Given the description of an element on the screen output the (x, y) to click on. 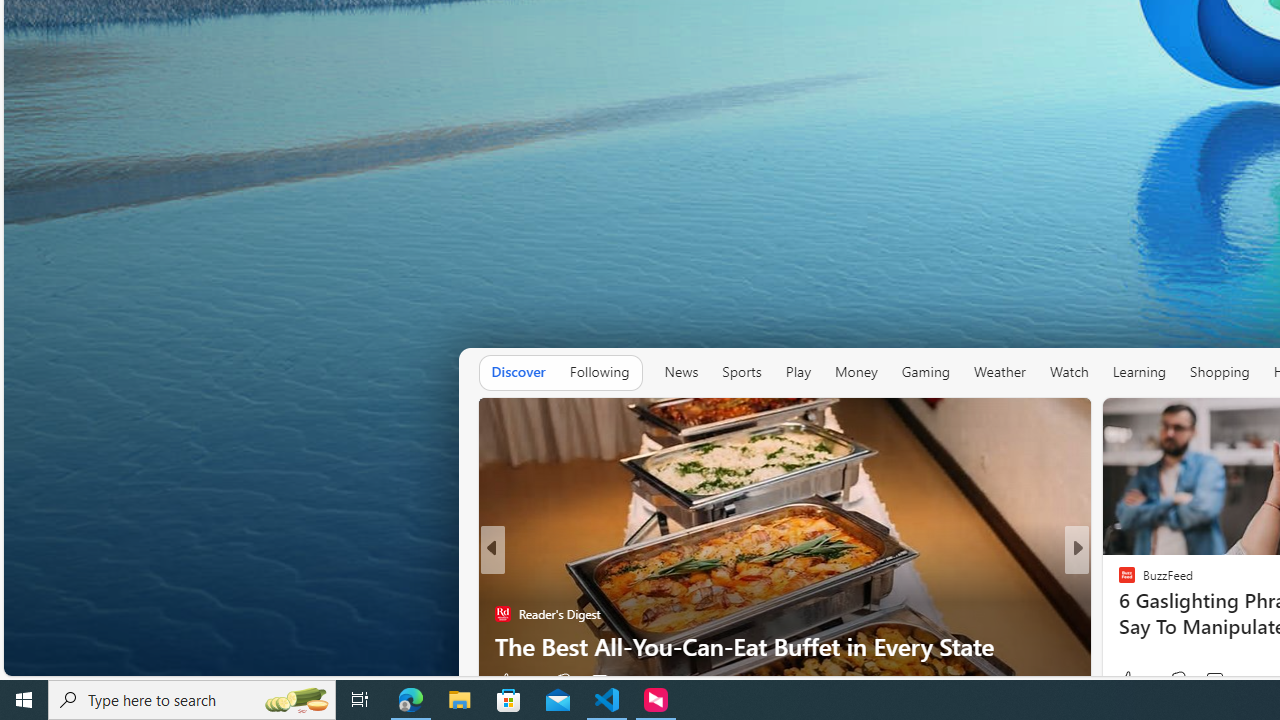
3 Ways To Clean Dirty Baking Sheets So They Look Brand New (784, 629)
Start (24, 699)
FOX News (1117, 581)
News (681, 371)
Microsoft Store (509, 699)
Task View (359, 699)
USA TODAY (1117, 581)
File Explorer (460, 699)
Discover (517, 371)
Newsweek (502, 614)
Play (798, 372)
Play (797, 371)
News (680, 372)
